Given the description of an element on the screen output the (x, y) to click on. 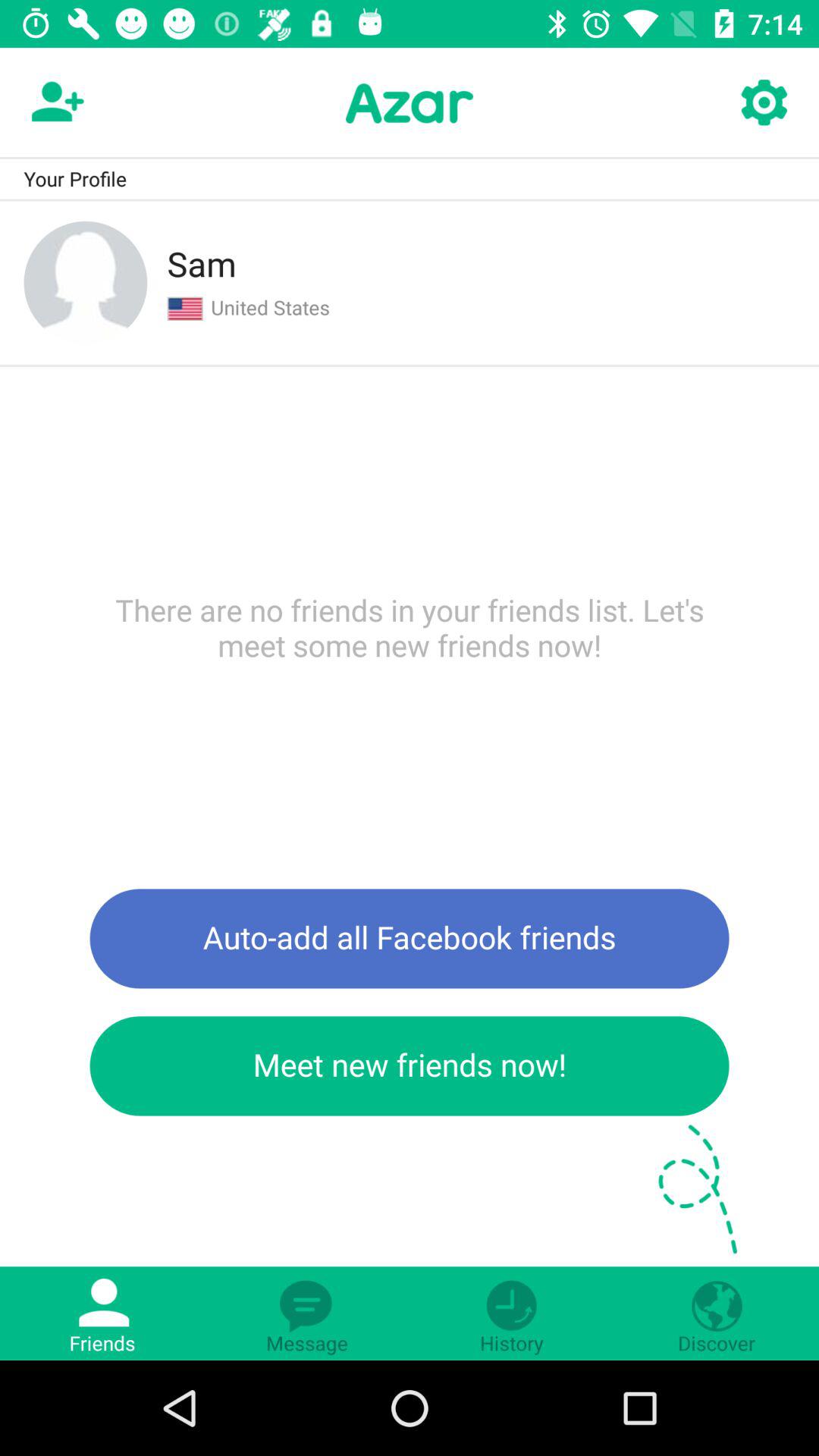
turn off item above the meet new friends item (409, 938)
